Given the description of an element on the screen output the (x, y) to click on. 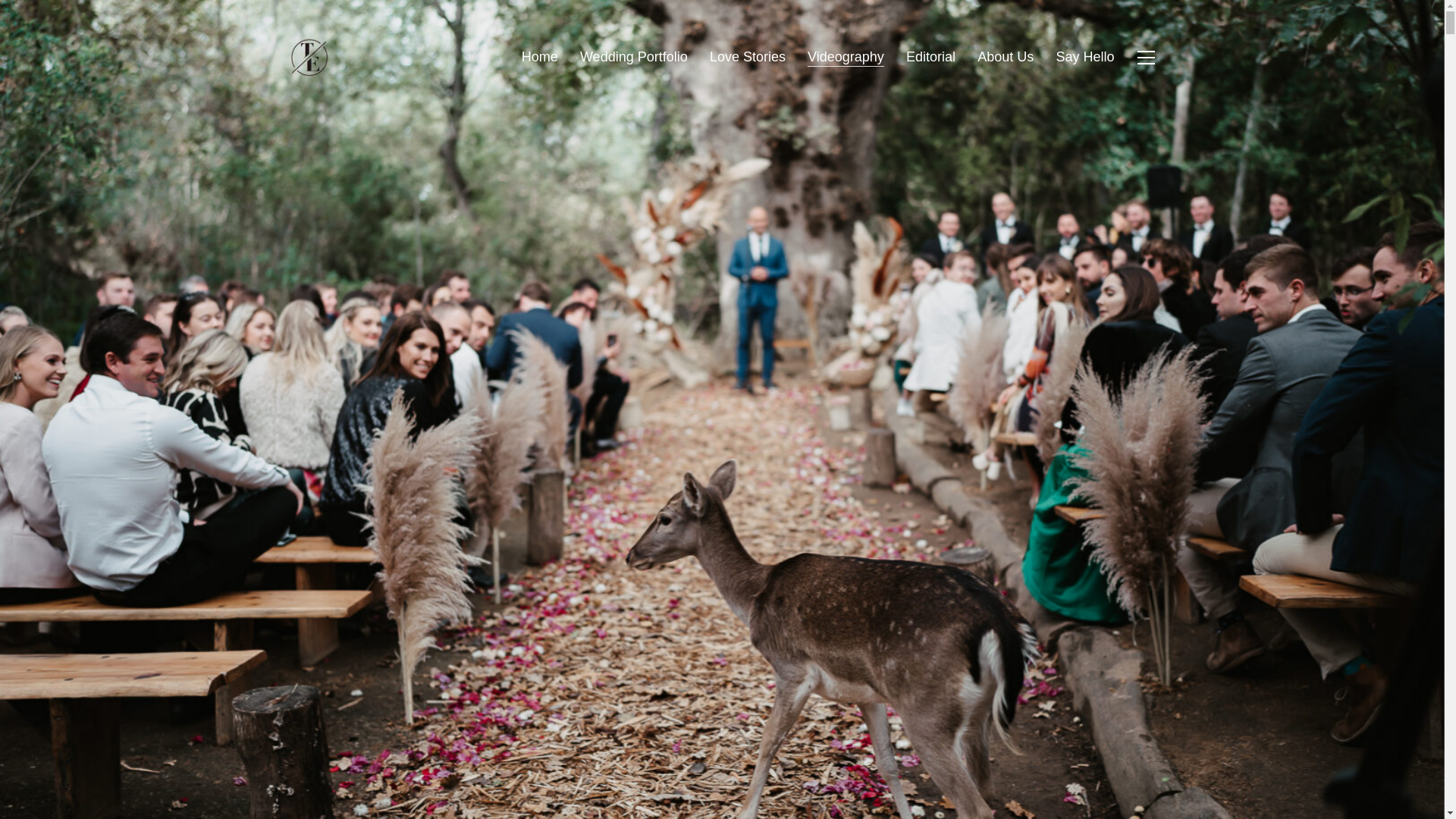
Home (539, 57)
Videography (845, 57)
Wedding Portfolio (633, 57)
About Us (1004, 57)
Editorial (930, 57)
Love Stories (748, 57)
Say Hello (1084, 57)
